Given the description of an element on the screen output the (x, y) to click on. 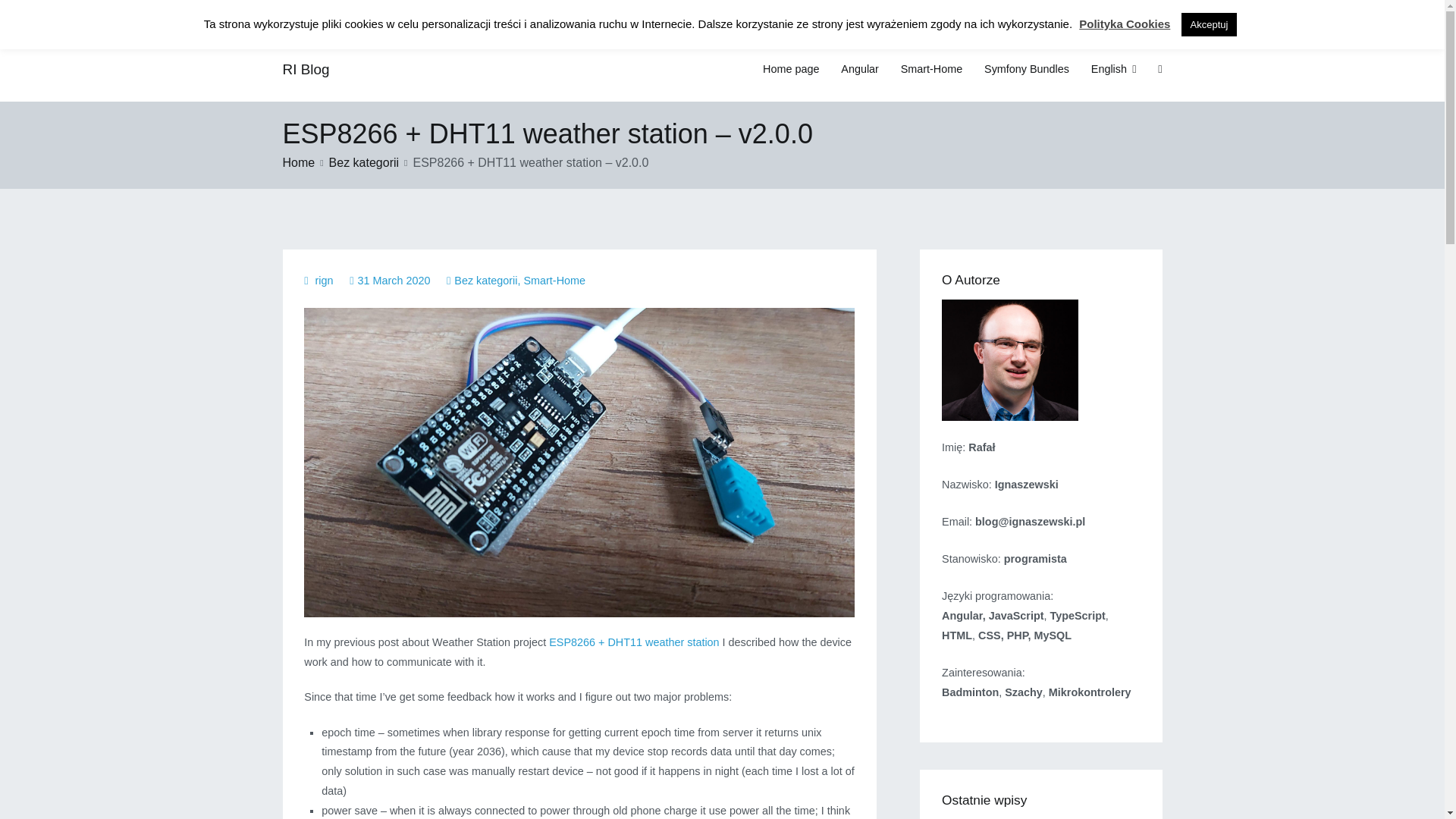
Bez kategorii (363, 162)
Symfony Bundles (1026, 69)
Search (28, 13)
Smart-Home (553, 280)
RI Blog (305, 68)
Angular (860, 69)
rign (324, 280)
English (1113, 69)
31 March 2020 (392, 280)
Home page (790, 69)
